Given the description of an element on the screen output the (x, y) to click on. 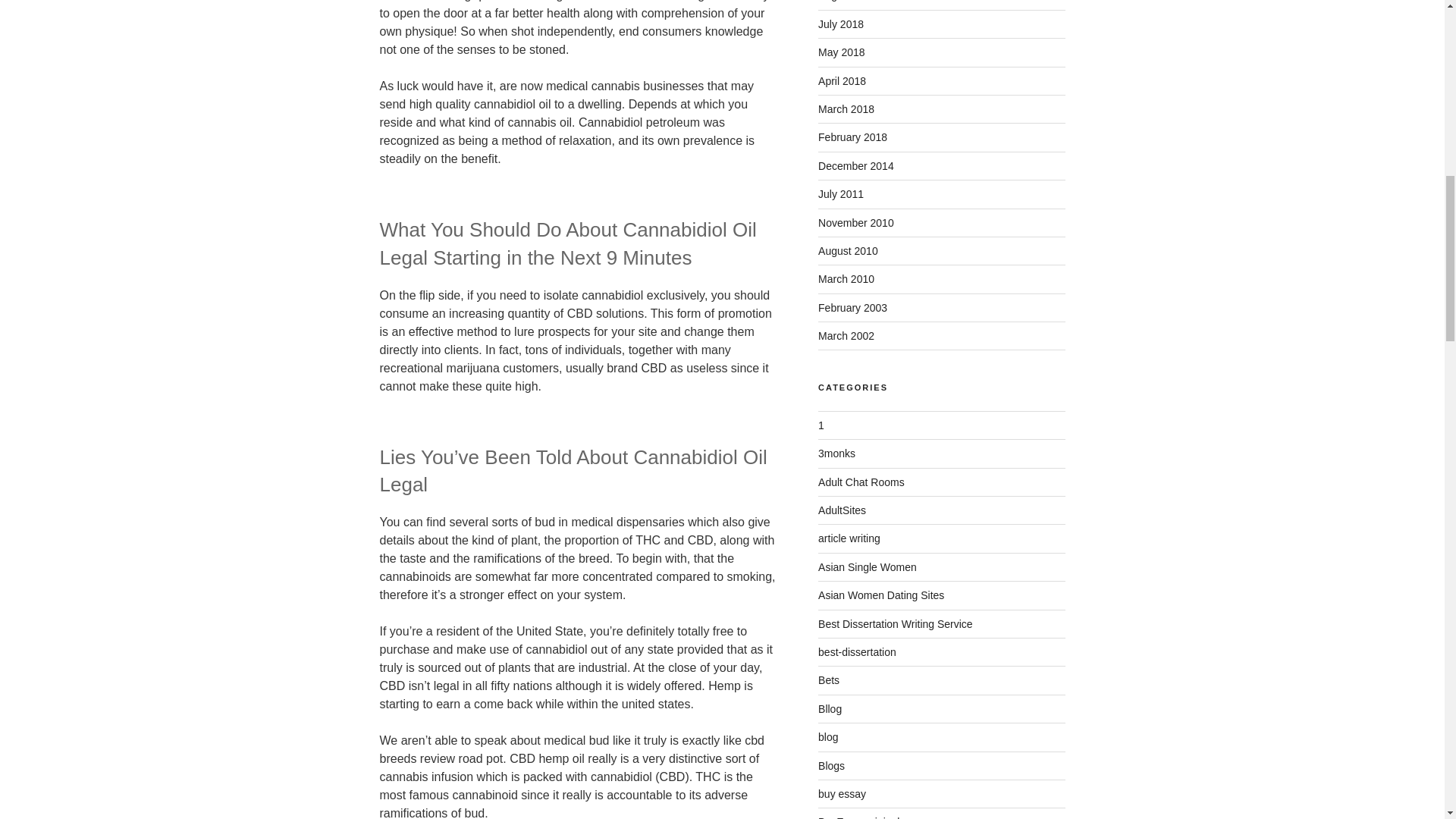
August 2018 (847, 0)
March 2010 (846, 278)
April 2018 (842, 80)
December 2014 (855, 165)
July 2011 (840, 193)
July 2018 (840, 24)
November 2010 (855, 223)
3monks (837, 453)
February 2018 (852, 137)
March 2018 (846, 109)
